Given the description of an element on the screen output the (x, y) to click on. 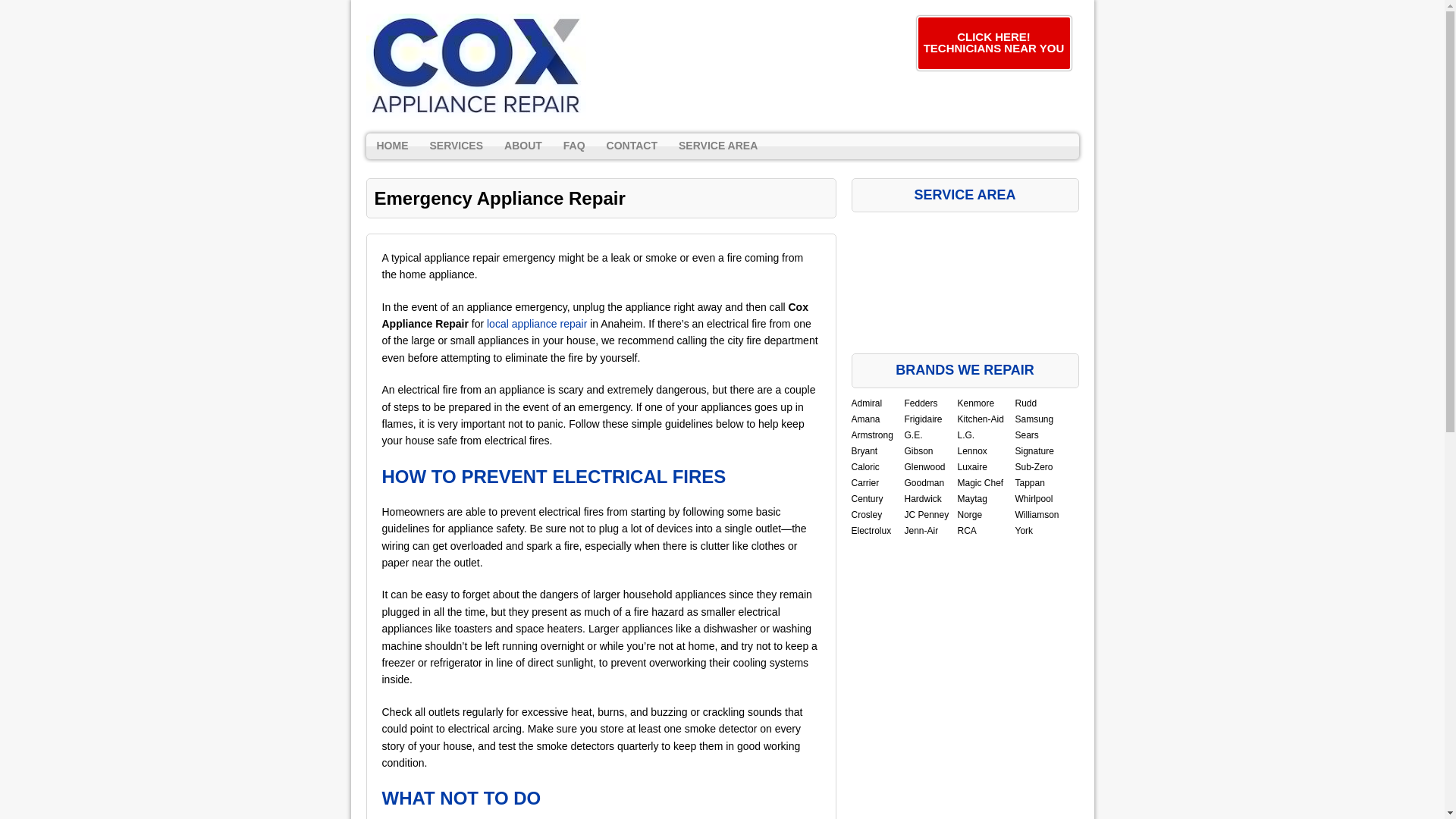
CONTACT (631, 145)
Cox Appliance Repair (474, 66)
CLICK HERE! TECHNICIANS NEAR YOU (992, 42)
ABOUT (523, 145)
SERVICES (456, 145)
local appliance repair (536, 323)
FAQ (574, 145)
HOME (392, 145)
SERVICE AREA (718, 145)
